Given the description of an element on the screen output the (x, y) to click on. 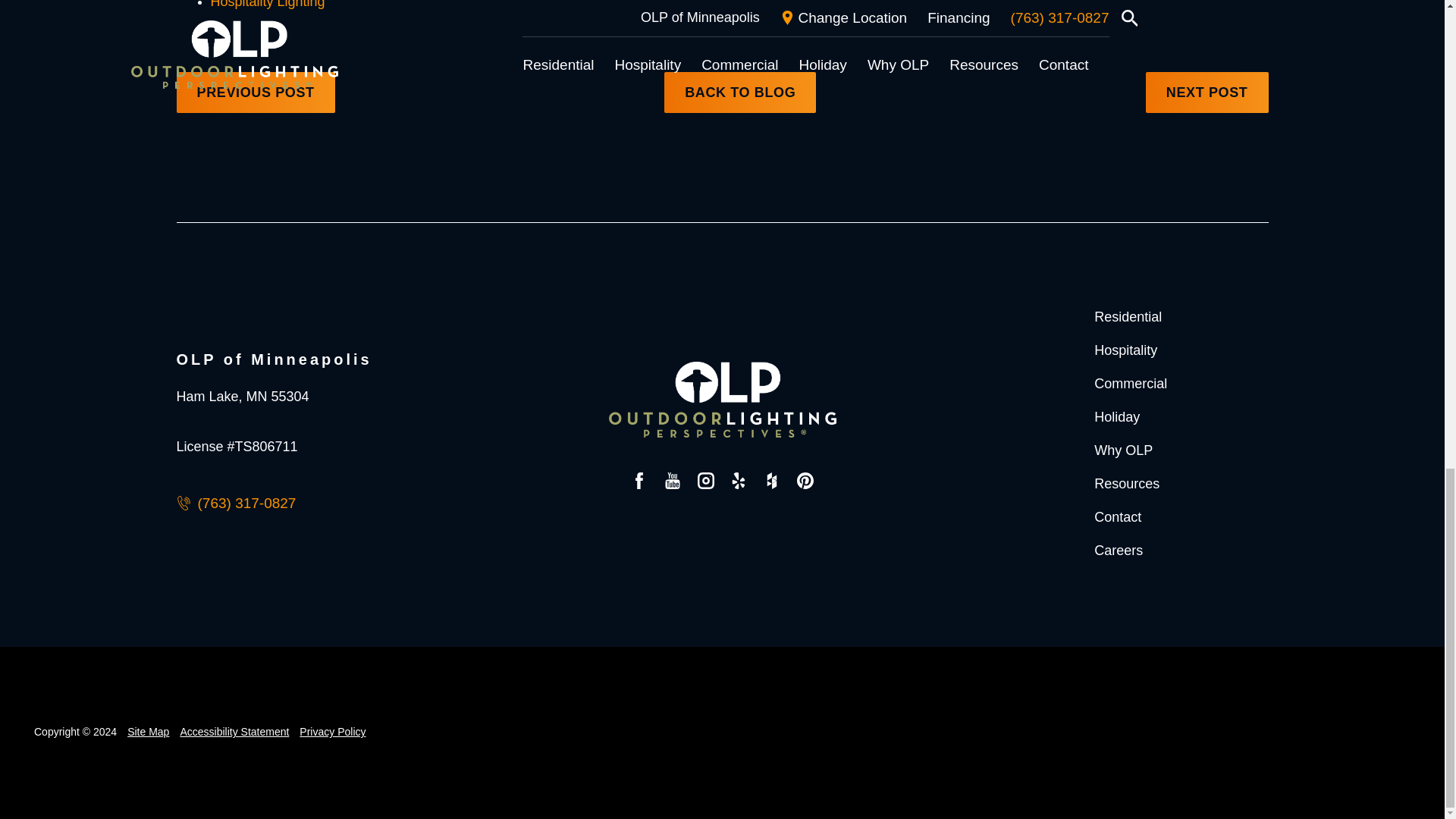
Outdoor Lighting Perspectives (721, 399)
